Given the description of an element on the screen output the (x, y) to click on. 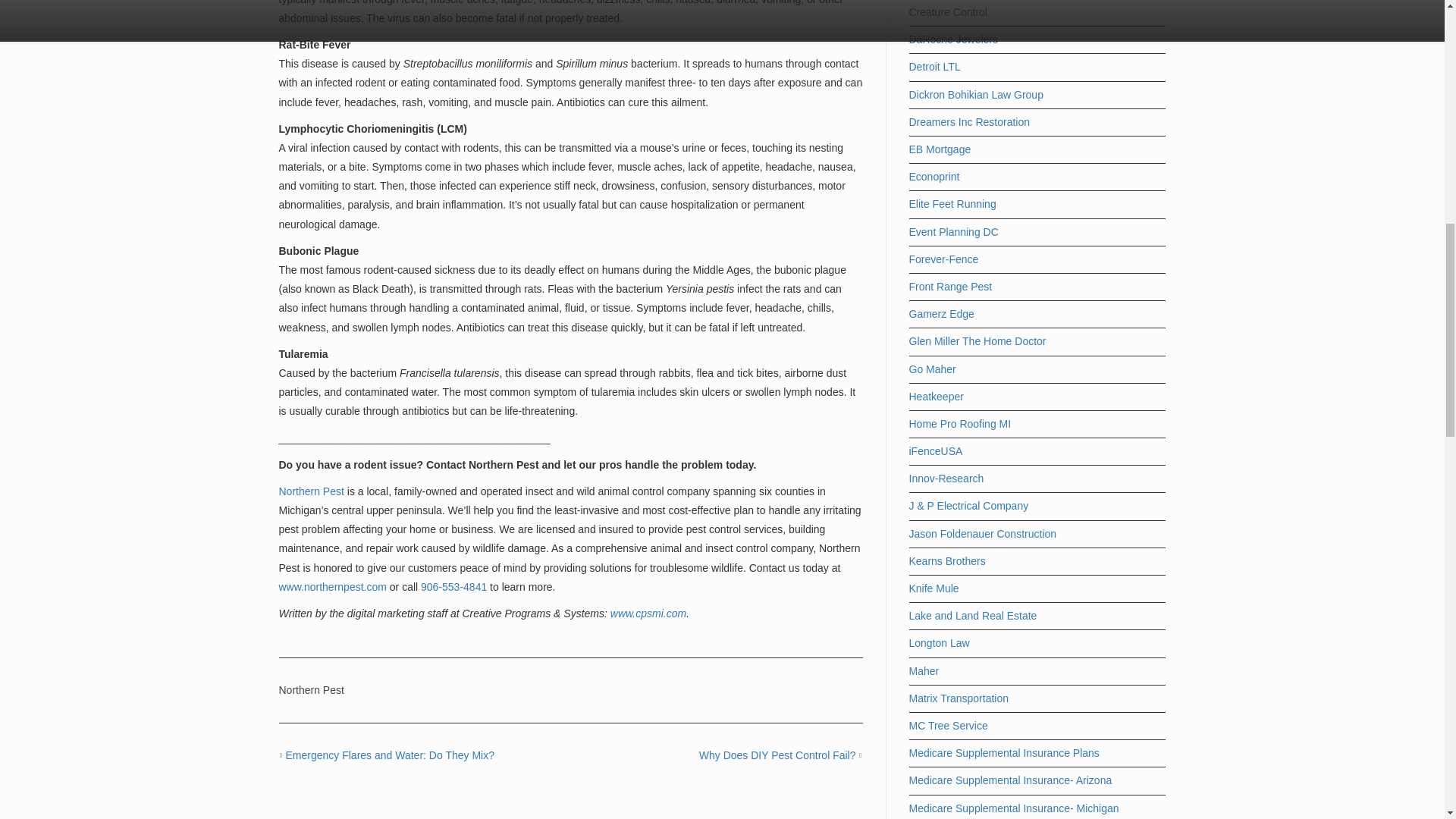
Why Does DIY Pest Control Fail? (777, 755)
www.northernpest.com (333, 586)
906-553-4841 (453, 586)
www.cpsmi.com (647, 613)
Northern Pest (311, 491)
Emergency Flares and Water: Do They Mix? (390, 755)
Northern Pest (311, 689)
